Given the description of an element on the screen output the (x, y) to click on. 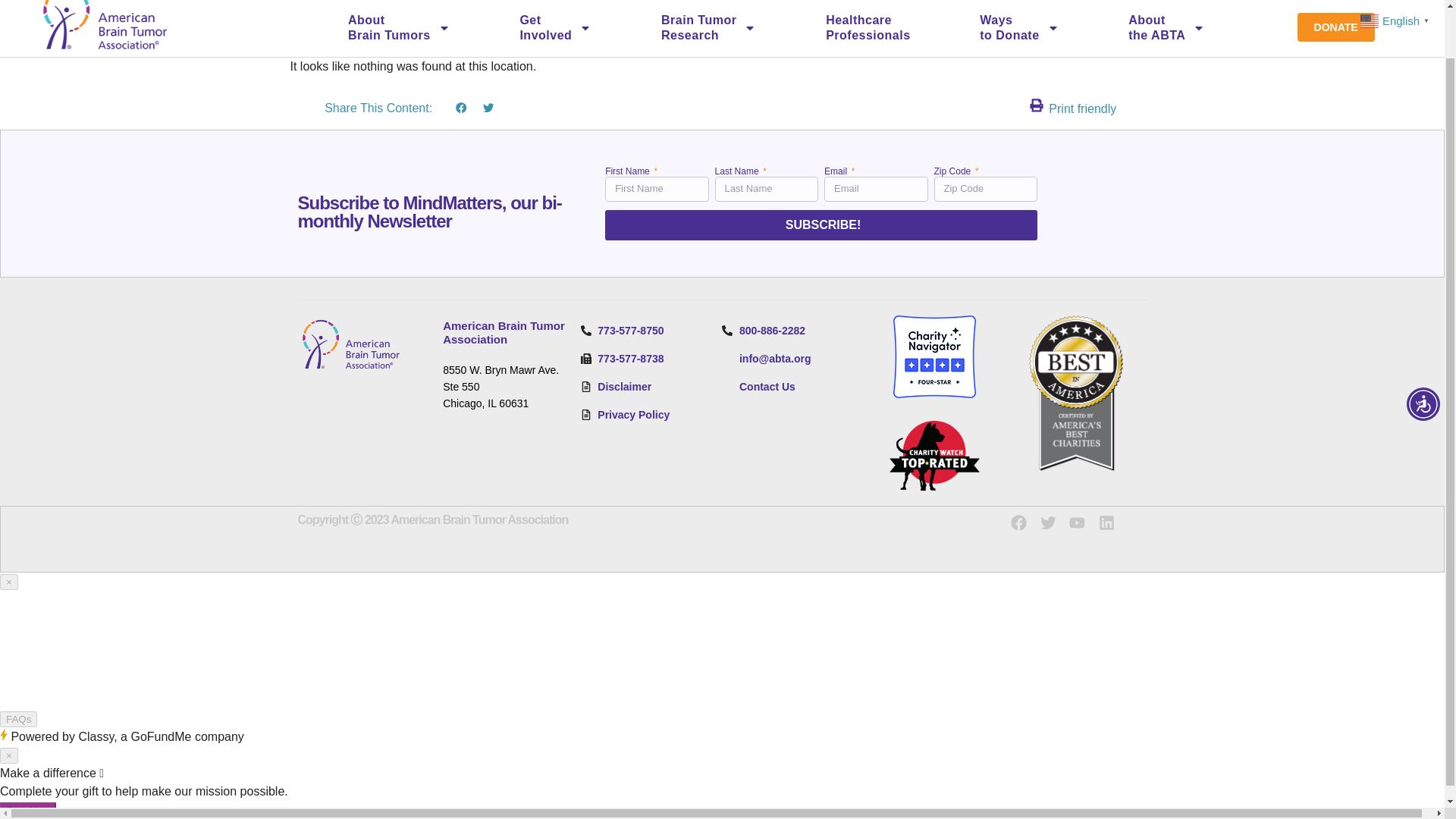
Accessibility Menu (398, 33)
